Given the description of an element on the screen output the (x, y) to click on. 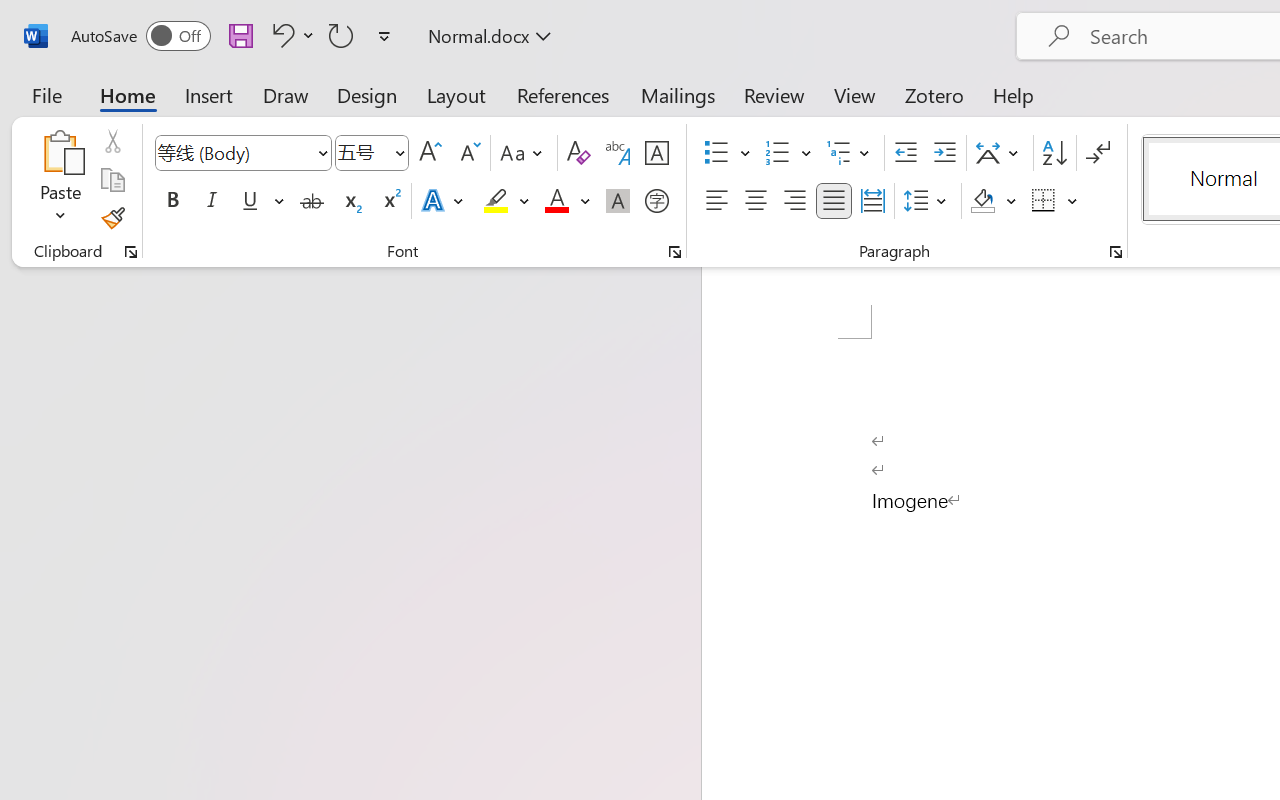
Change Case (524, 153)
